Given the description of an element on the screen output the (x, y) to click on. 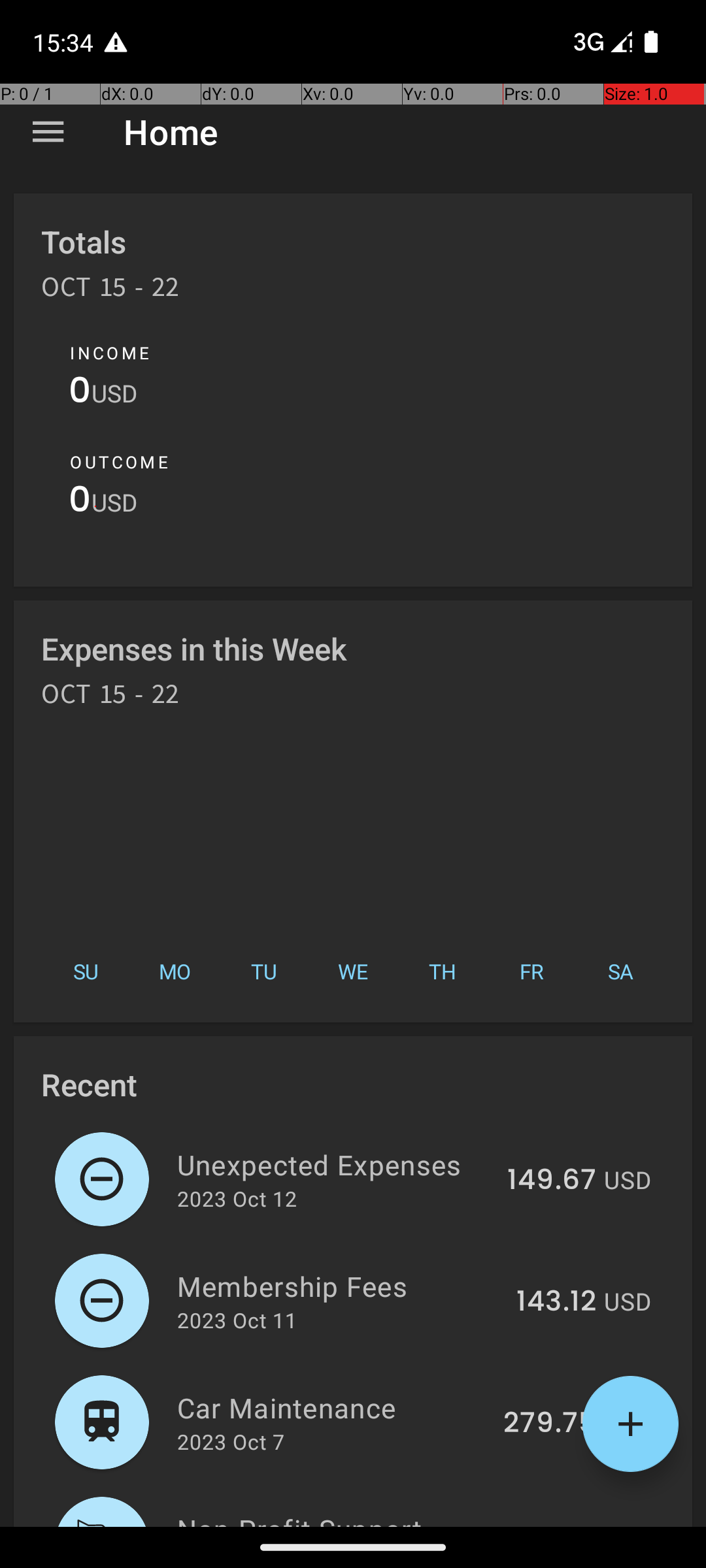
Unexpected Expenses Element type: android.widget.TextView (334, 1164)
149.67 Element type: android.widget.TextView (551, 1180)
Membership Fees Element type: android.widget.TextView (339, 1285)
143.12 Element type: android.widget.TextView (555, 1301)
Car Maintenance Element type: android.widget.TextView (332, 1407)
2023 Oct 7 Element type: android.widget.TextView (230, 1441)
279.75 Element type: android.widget.TextView (549, 1423)
Non-Profit Support Element type: android.widget.TextView (331, 1518)
335.78 Element type: android.widget.TextView (548, 1524)
